Given the description of an element on the screen output the (x, y) to click on. 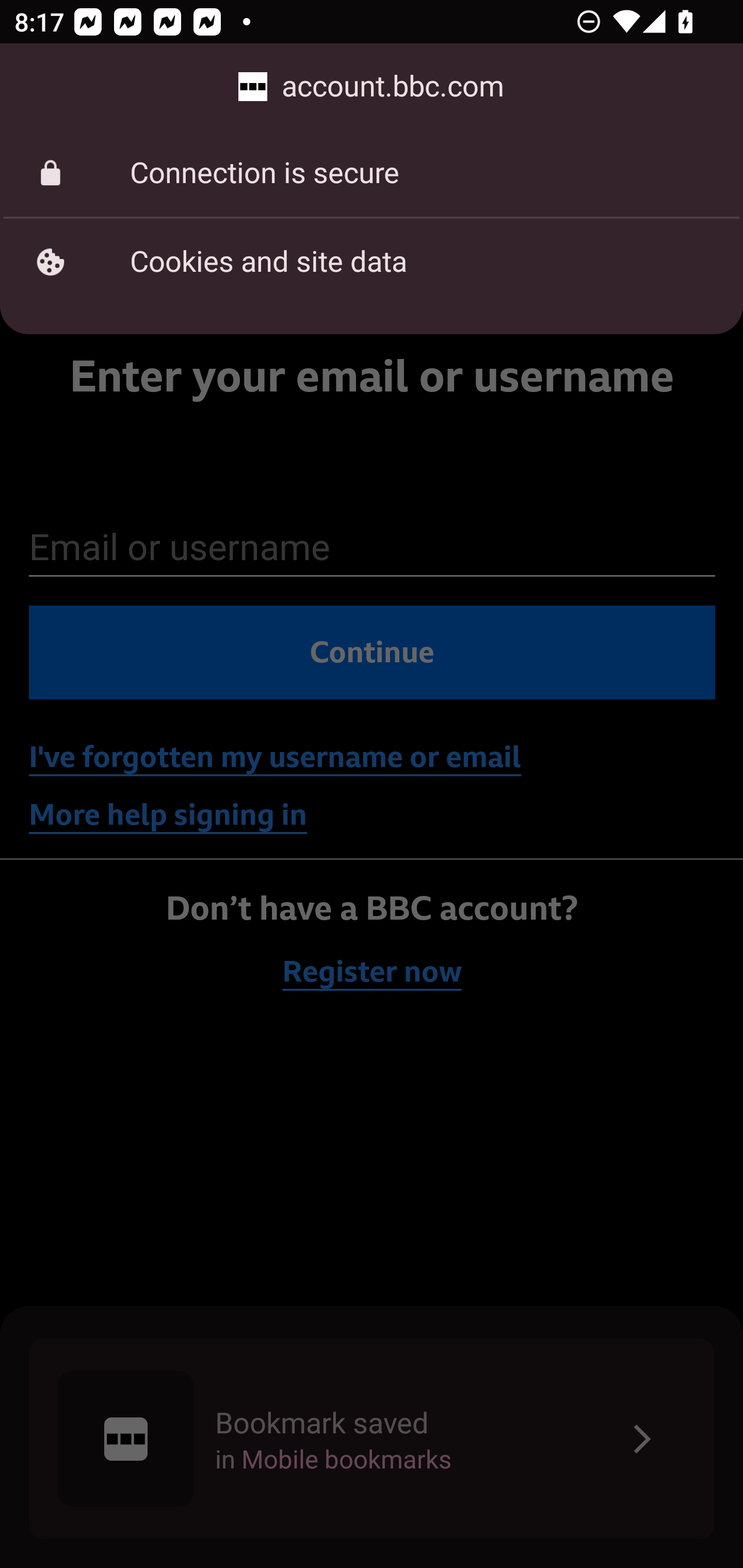
account.bbc.com (371, 86)
Connection is secure (371, 173)
Cookies and site data (371, 261)
